Given the description of an element on the screen output the (x, y) to click on. 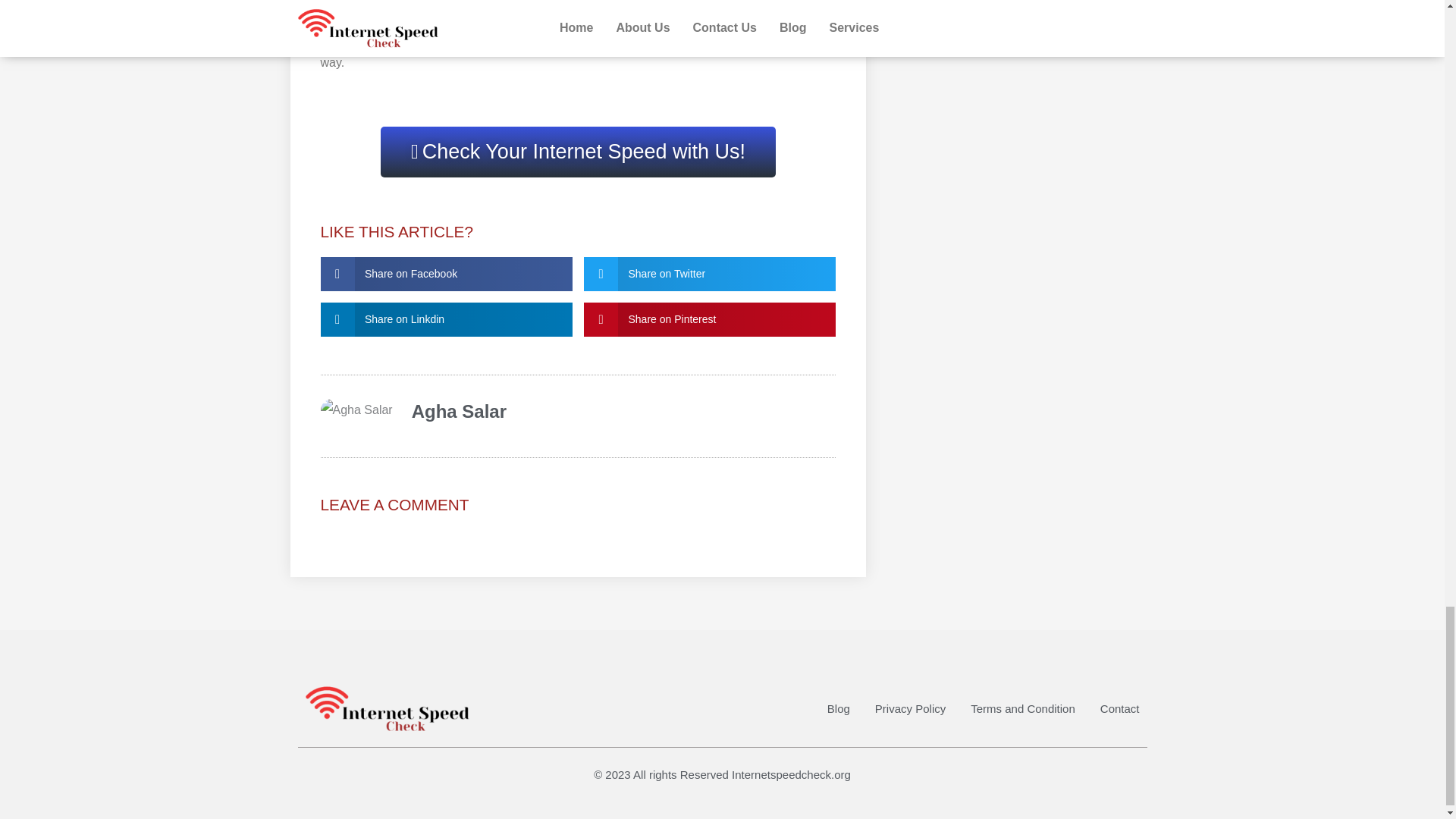
Terms and Condition (1023, 708)
Privacy Policy (909, 708)
Check Your Internet Speed with Us! (578, 151)
Blog (838, 708)
Contact (1120, 708)
